Given the description of an element on the screen output the (x, y) to click on. 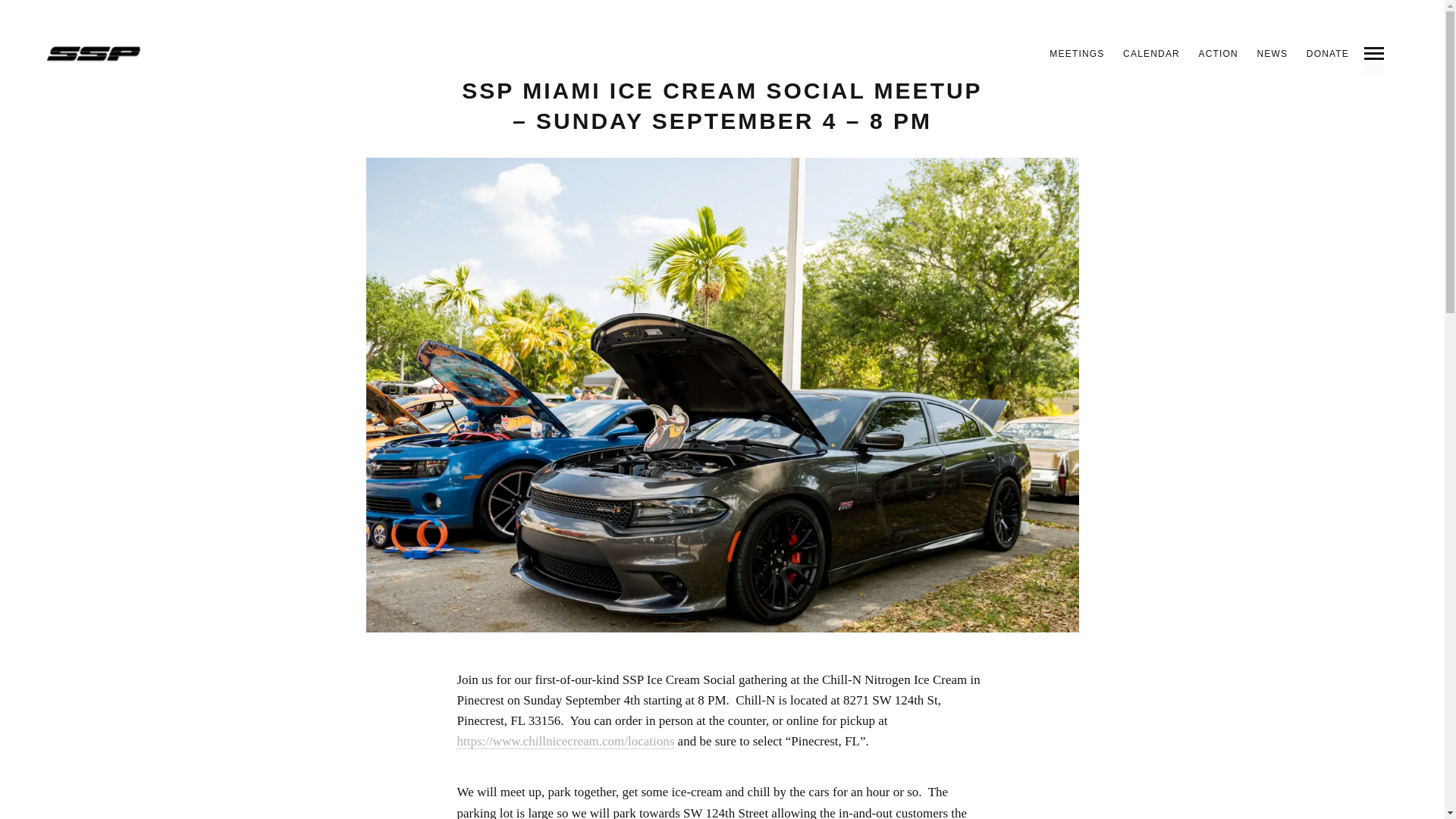
ACTION (1217, 53)
NEWS (1272, 53)
CALENDAR (1151, 53)
MEETINGS (1077, 53)
Speed Style and Performance (94, 53)
DONATE (1327, 53)
